Given the description of an element on the screen output the (x, y) to click on. 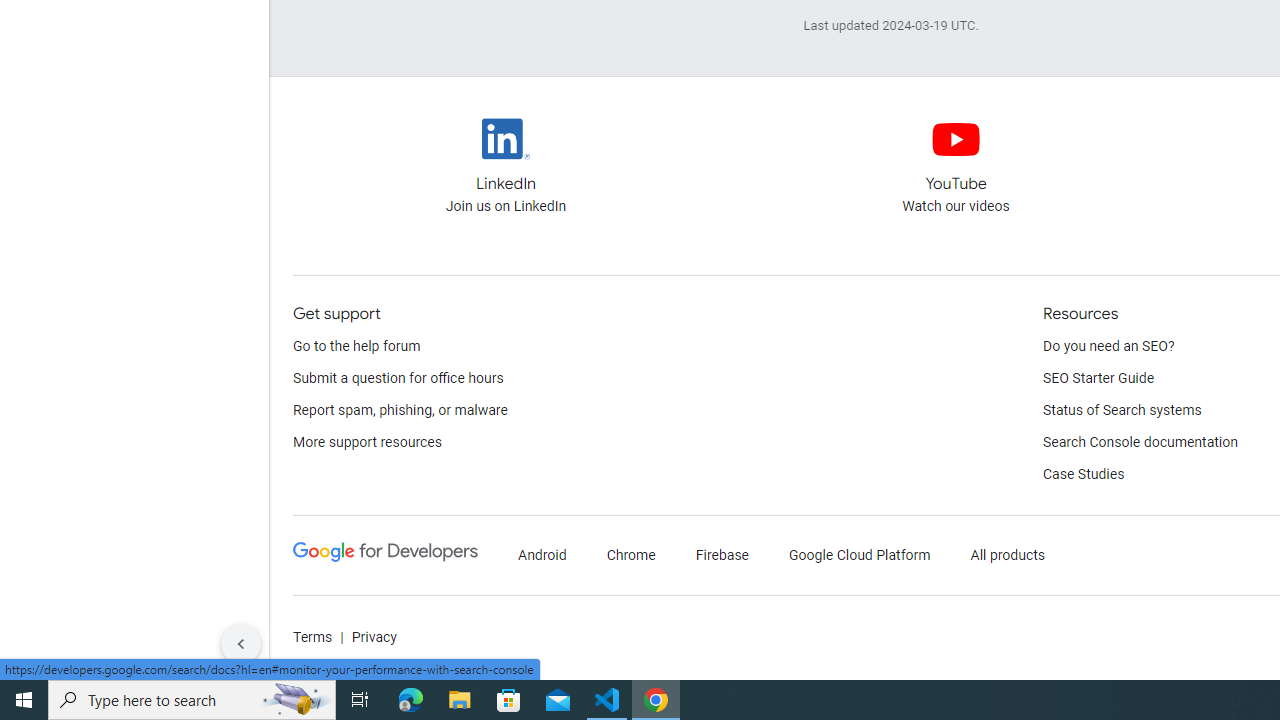
Firebase (722, 555)
Search Console documentation (1140, 442)
Do you need an SEO? (1109, 346)
LinkedIn (505, 138)
Google Developers (385, 555)
Hide side navigation (241, 643)
Android (542, 555)
Submit a question for office hours (398, 378)
Go to the help forum (357, 346)
Google Cloud Platform (859, 555)
Google Search Central YouTube channel (956, 156)
Google Developers (385, 551)
